Given the description of an element on the screen output the (x, y) to click on. 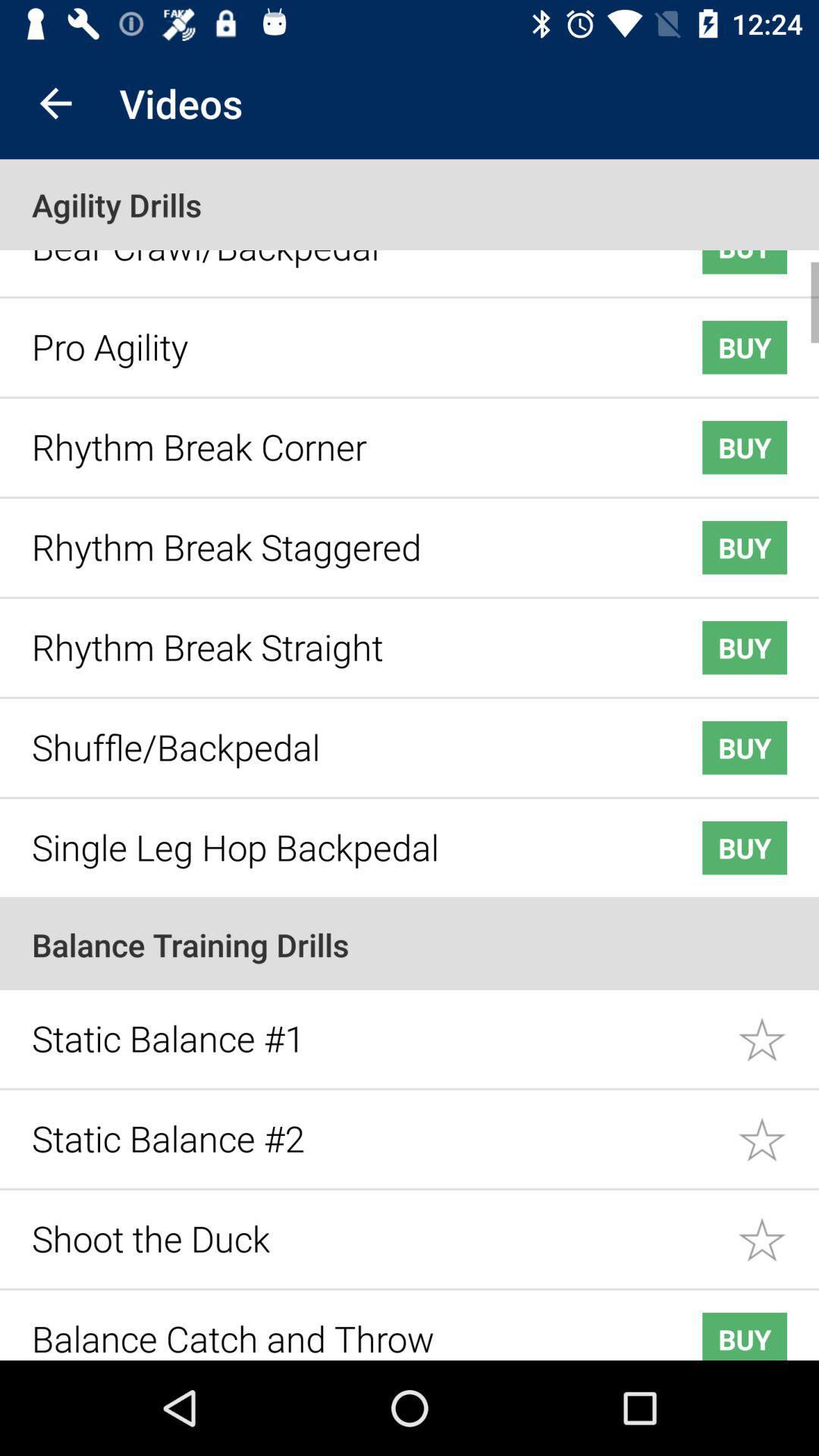
press the icon above balance training drills (342, 836)
